Given the description of an element on the screen output the (x, y) to click on. 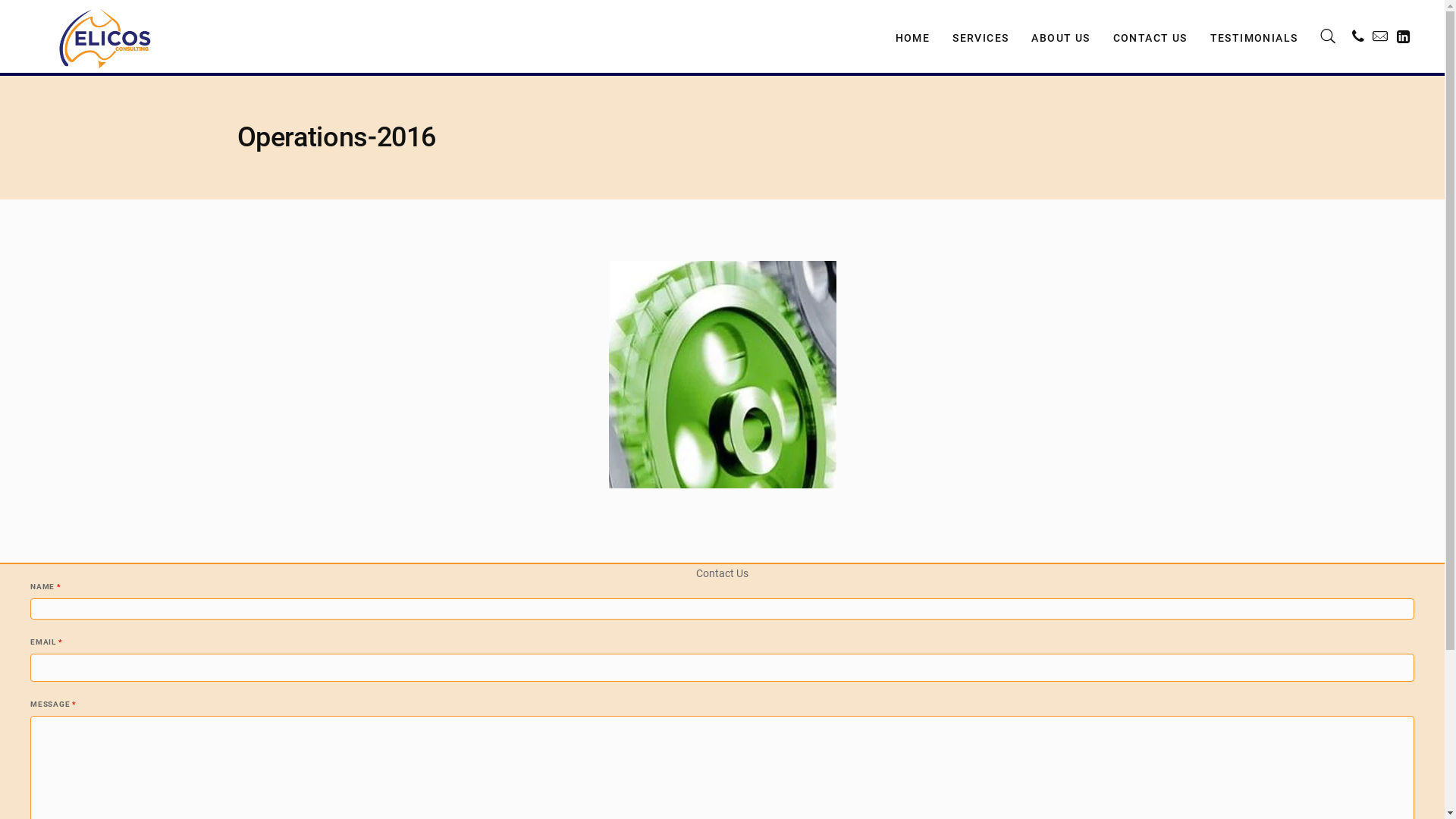
TESTIMONIALS Element type: text (1253, 36)
ABOUT US Element type: text (1060, 36)
SERVICES Element type: text (980, 36)
HOME Element type: text (912, 36)
CONTACT US Element type: text (1149, 36)
